Given the description of an element on the screen output the (x, y) to click on. 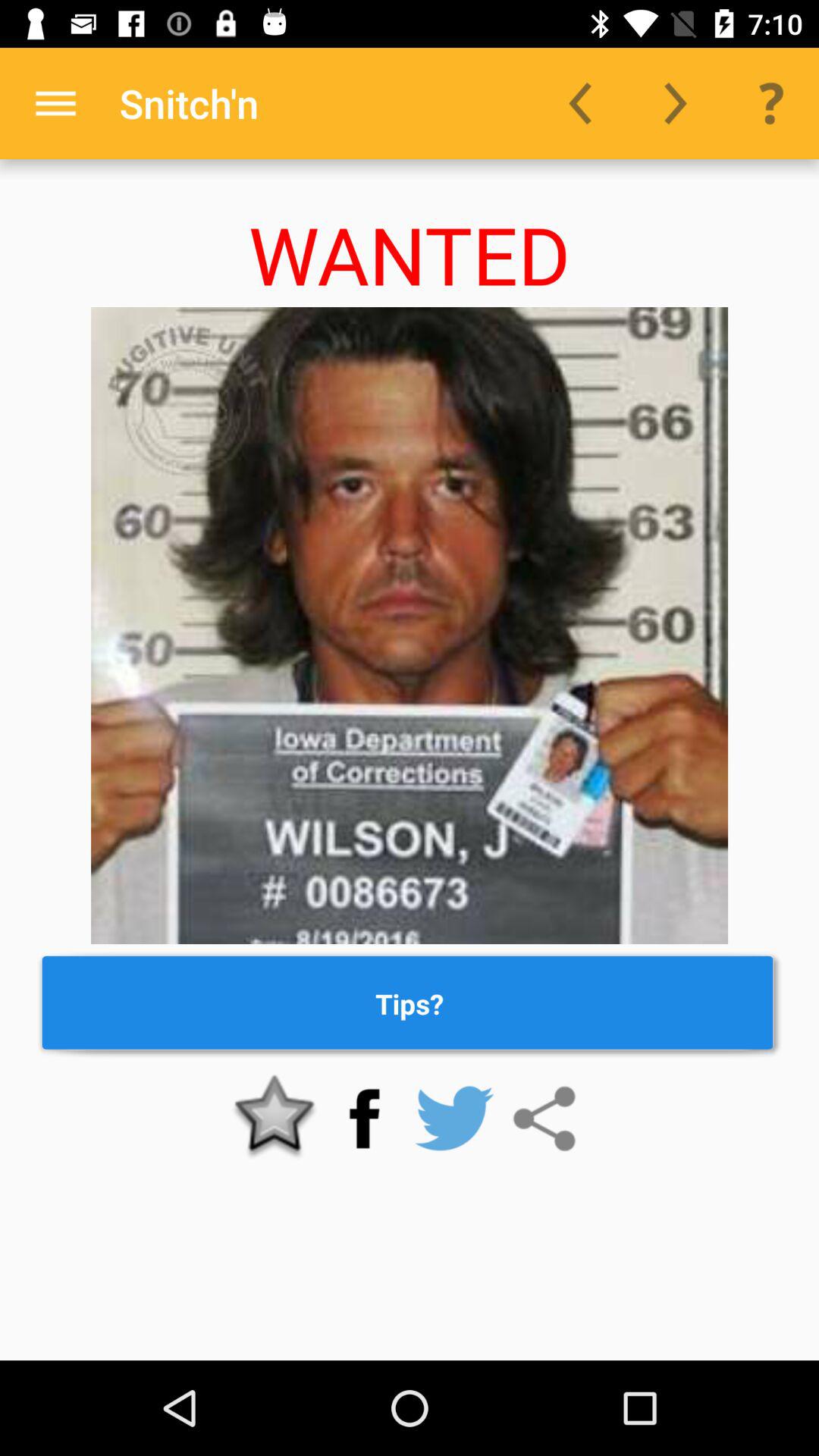
share article (544, 1118)
